Given the description of an element on the screen output the (x, y) to click on. 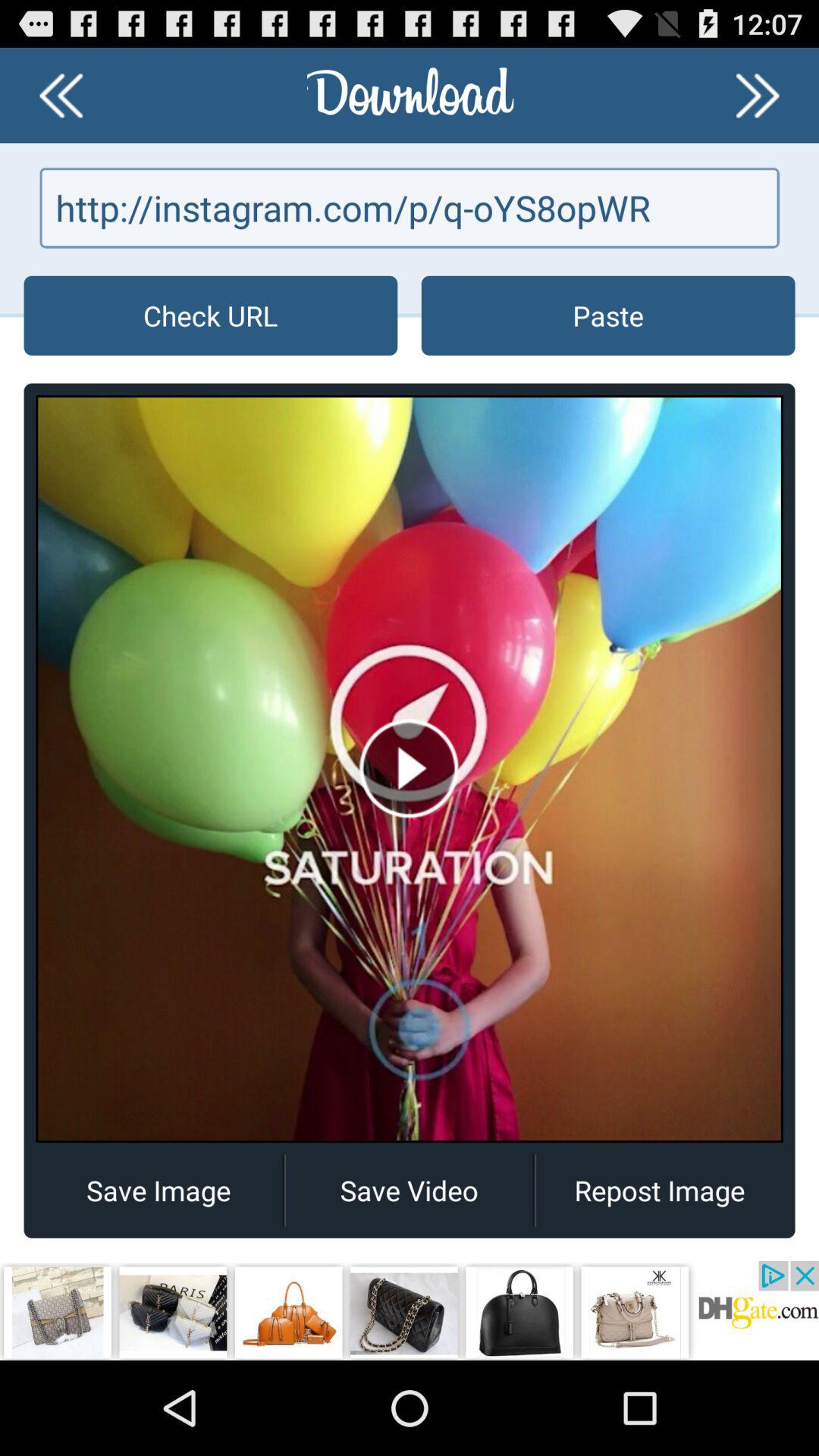
previous (757, 95)
